Given the description of an element on the screen output the (x, y) to click on. 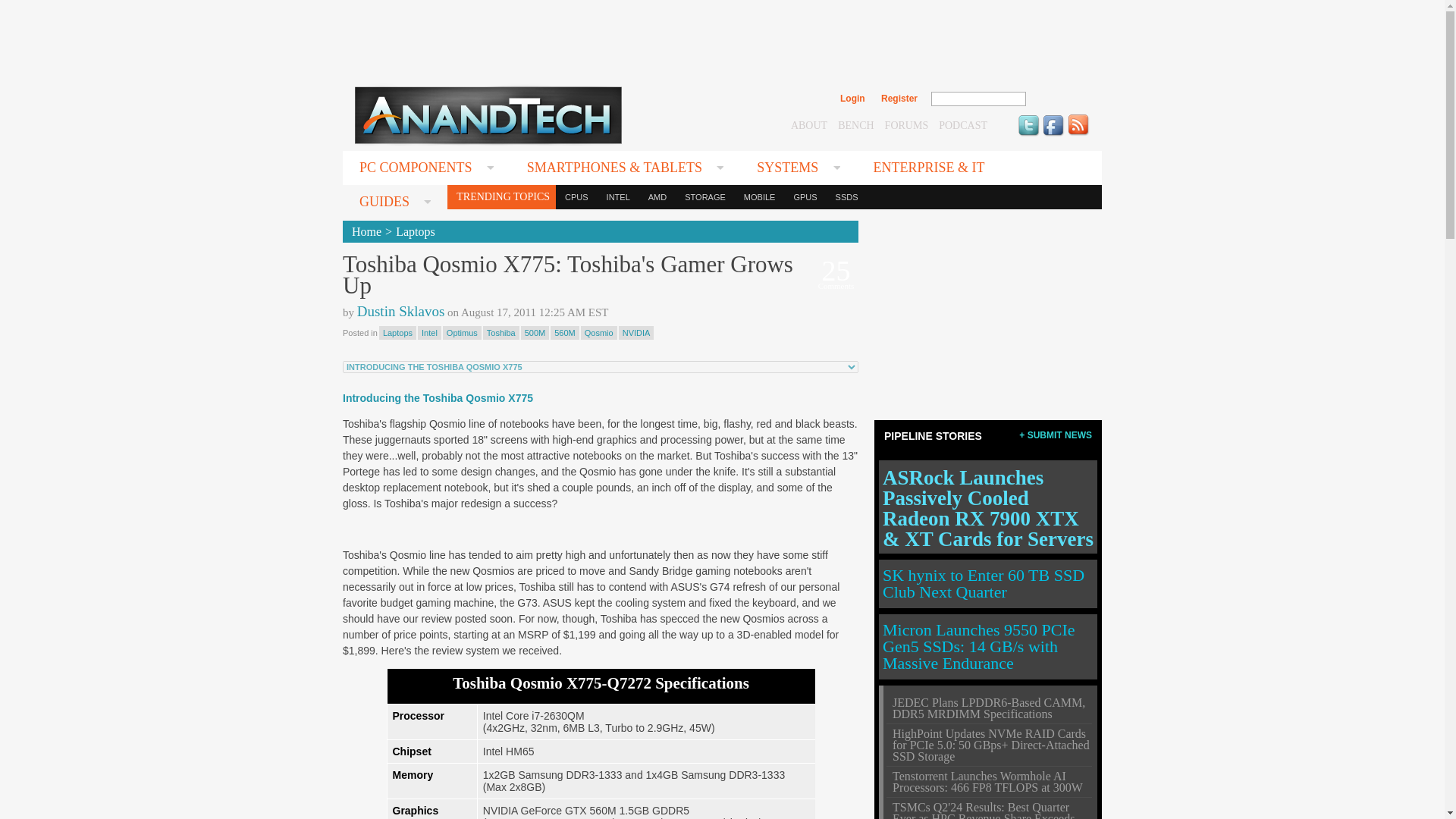
ABOUT (808, 125)
search (1059, 98)
search (1059, 98)
Login (852, 98)
PODCAST (963, 125)
BENCH (855, 125)
search (1059, 98)
FORUMS (906, 125)
Register (898, 98)
